Given the description of an element on the screen output the (x, y) to click on. 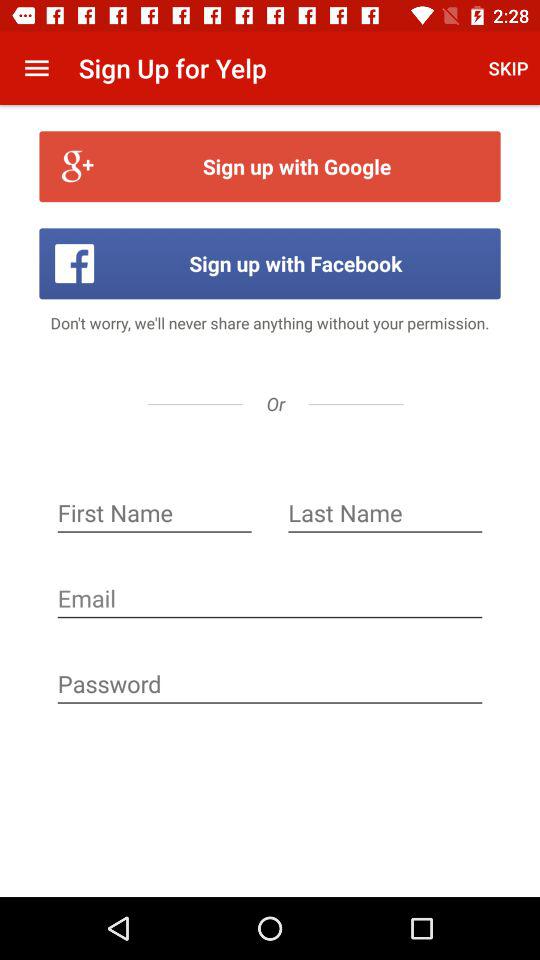
choose the skip icon (508, 68)
